Given the description of an element on the screen output the (x, y) to click on. 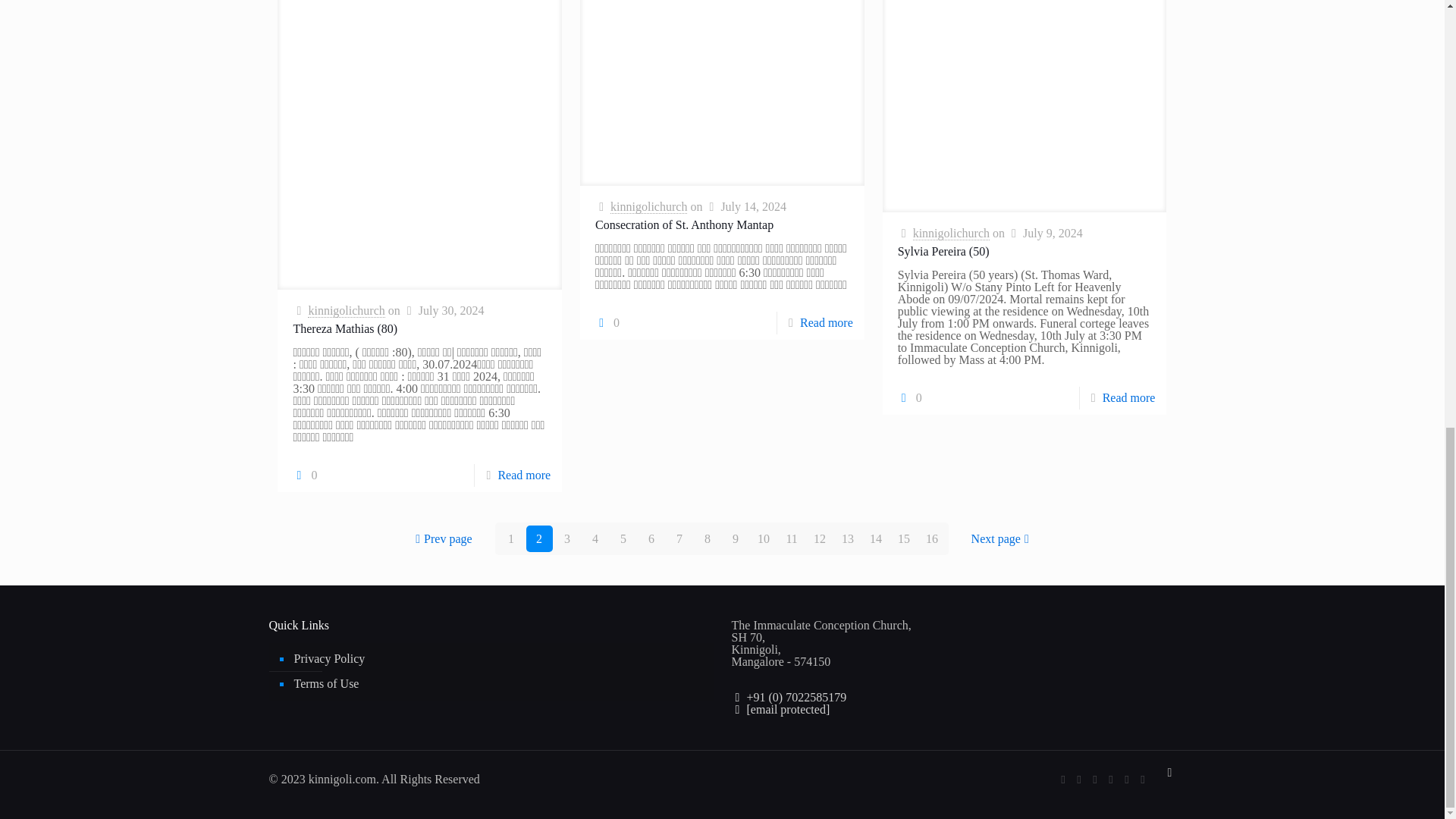
Behance (1142, 779)
Facebook (1079, 779)
YouTube (1126, 779)
Vimeo (1110, 779)
Skype (1062, 779)
